Given the description of an element on the screen output the (x, y) to click on. 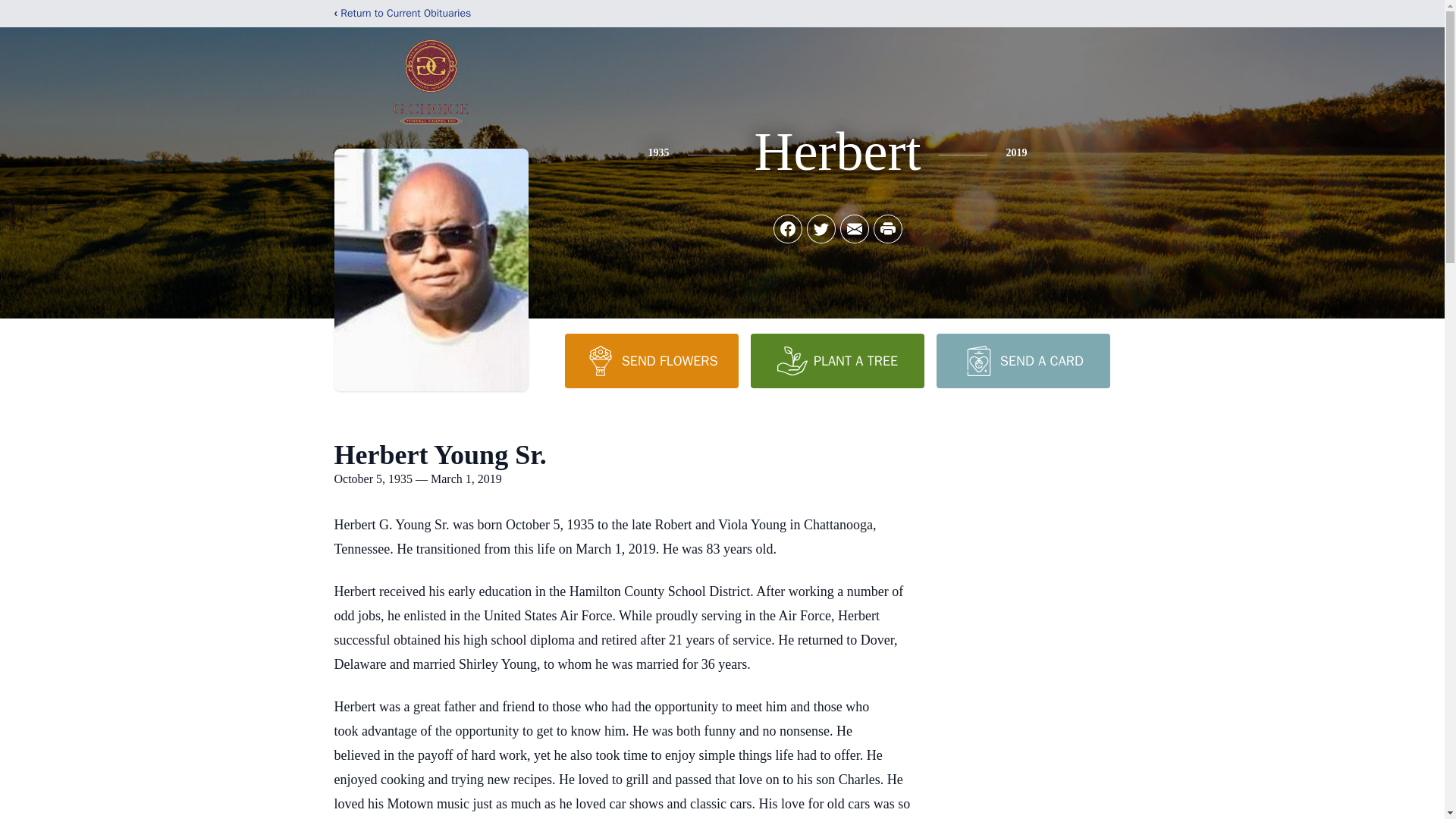
SEND FLOWERS (651, 360)
PLANT A TREE (837, 360)
SEND A CARD (1022, 360)
